Given the description of an element on the screen output the (x, y) to click on. 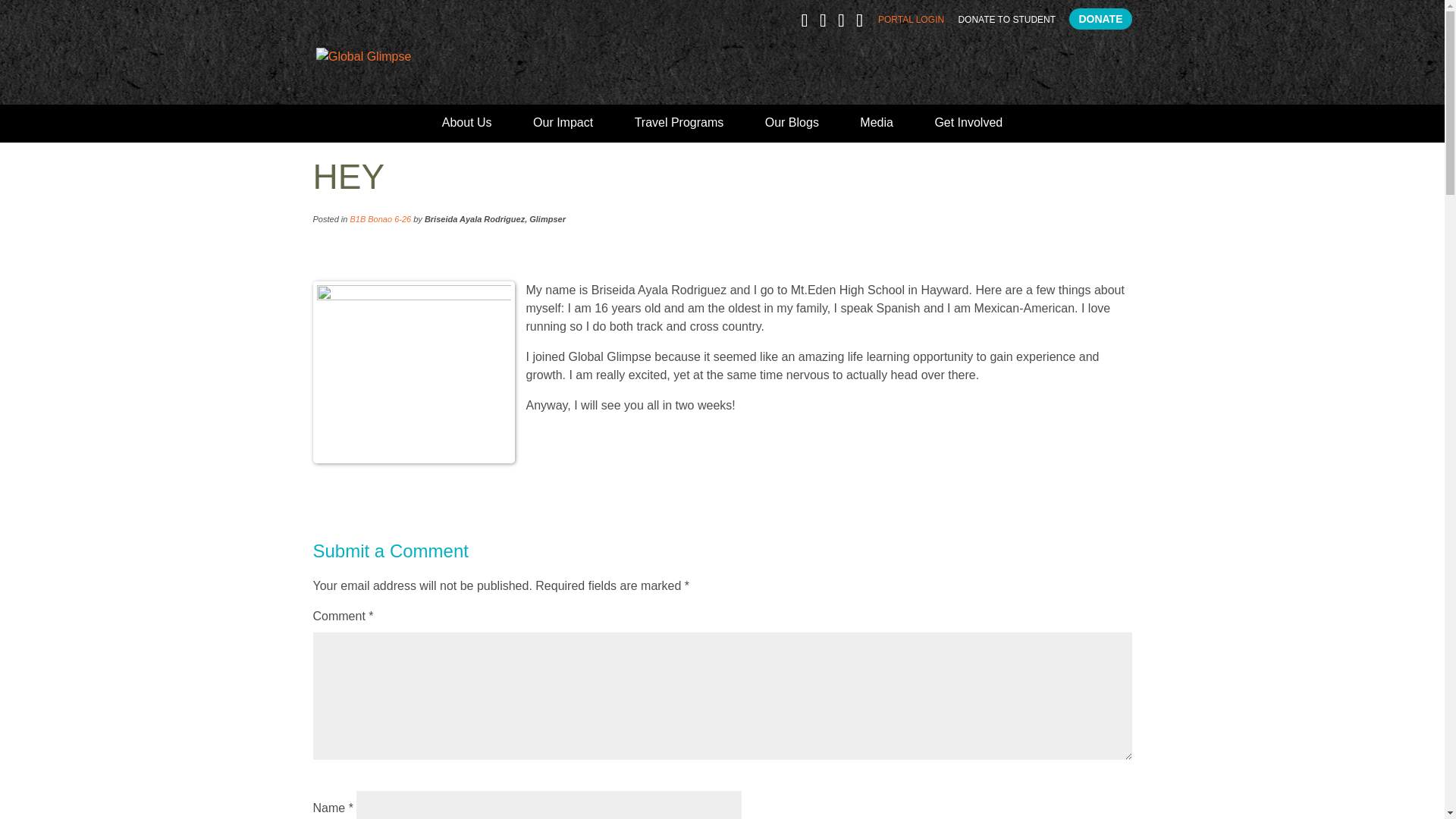
Travel Programs (678, 128)
About Us (467, 128)
Media (876, 128)
Our Blogs (791, 128)
PORTAL LOGIN (910, 23)
DONATE (1099, 18)
Get Involved (968, 128)
Our Impact (562, 128)
DONATE TO STUDENT (1006, 23)
